Given the description of an element on the screen output the (x, y) to click on. 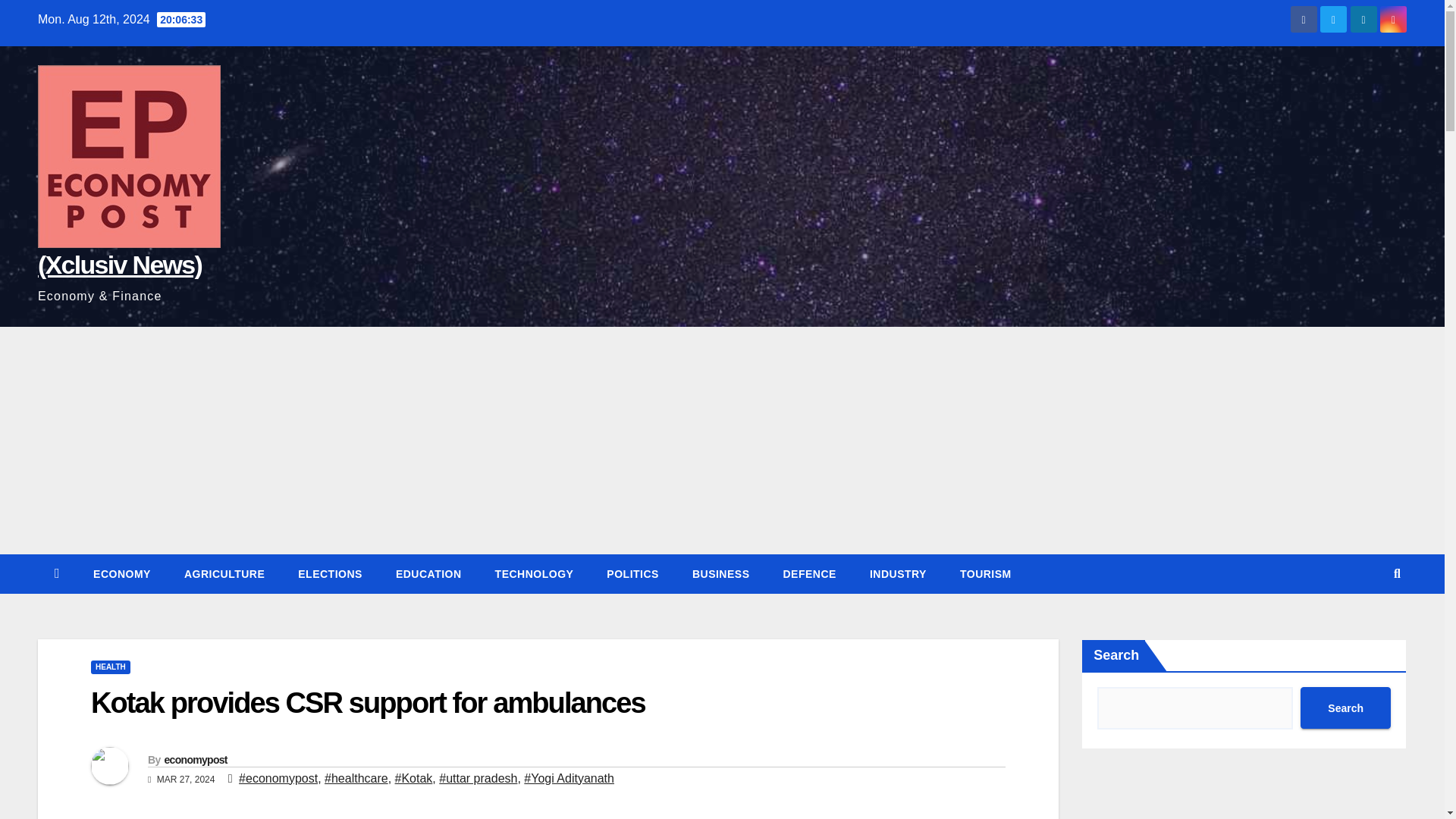
Tourism (985, 573)
TOURISM (985, 573)
Education (428, 573)
Business (721, 573)
HEALTH (110, 667)
Industry (898, 573)
Permalink to: Kotak provides CSR support for ambulances (367, 703)
Elections (329, 573)
ELECTIONS (329, 573)
